Given the description of an element on the screen output the (x, y) to click on. 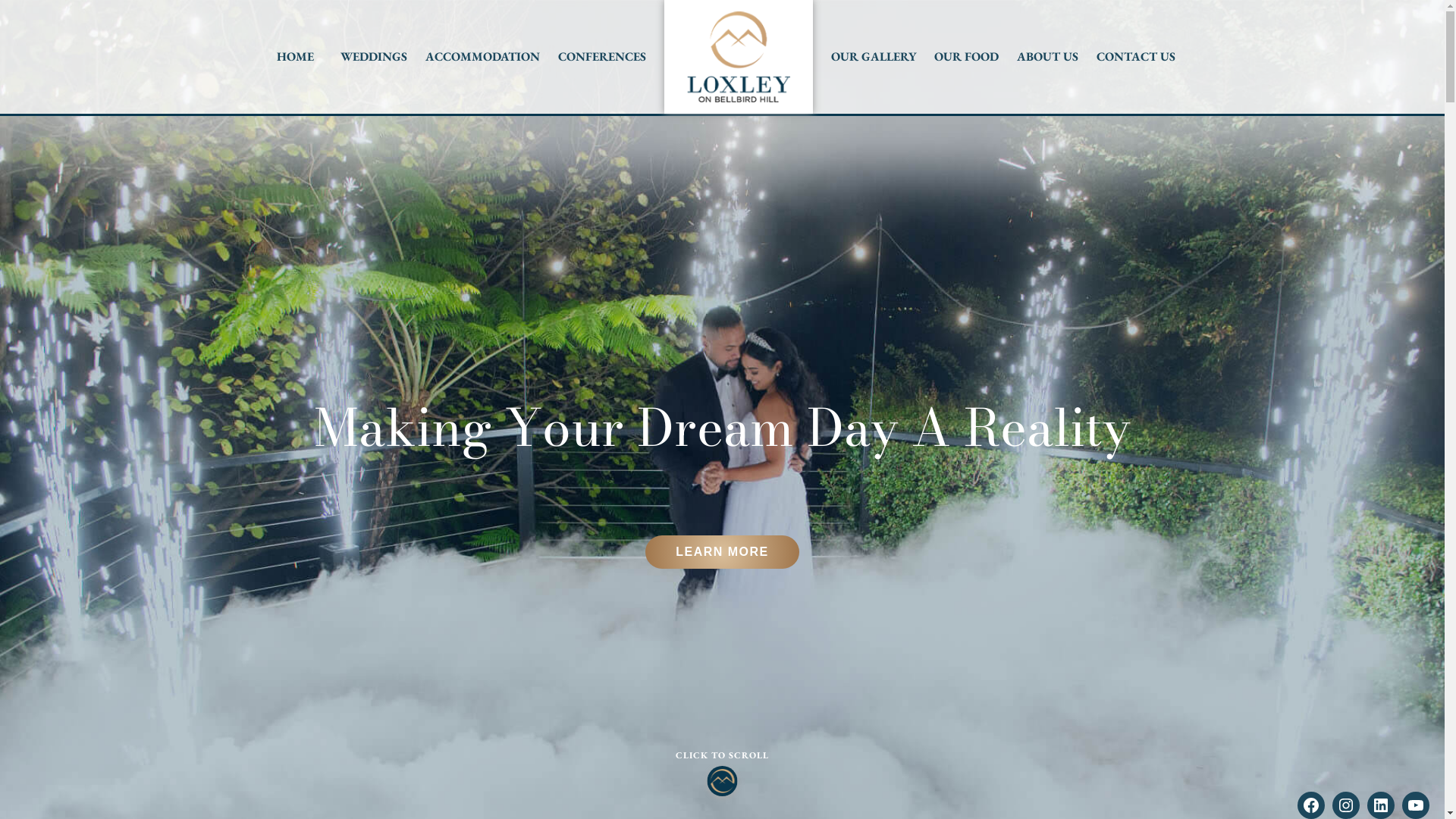
CONTACT US Element type: text (1135, 56)
ABOUT US Element type: text (1047, 56)
WEDDINGS Element type: text (373, 56)
ACCOMMODATION Element type: text (482, 56)
CONFERENCES Element type: text (602, 56)
OUR GALLERY Element type: text (873, 56)
HOME Element type: text (295, 56)
CLICK TO SCROLL Element type: text (721, 772)
LEARN MORE Element type: text (722, 551)
OUR FOOD Element type: text (966, 56)
